Given the description of an element on the screen output the (x, y) to click on. 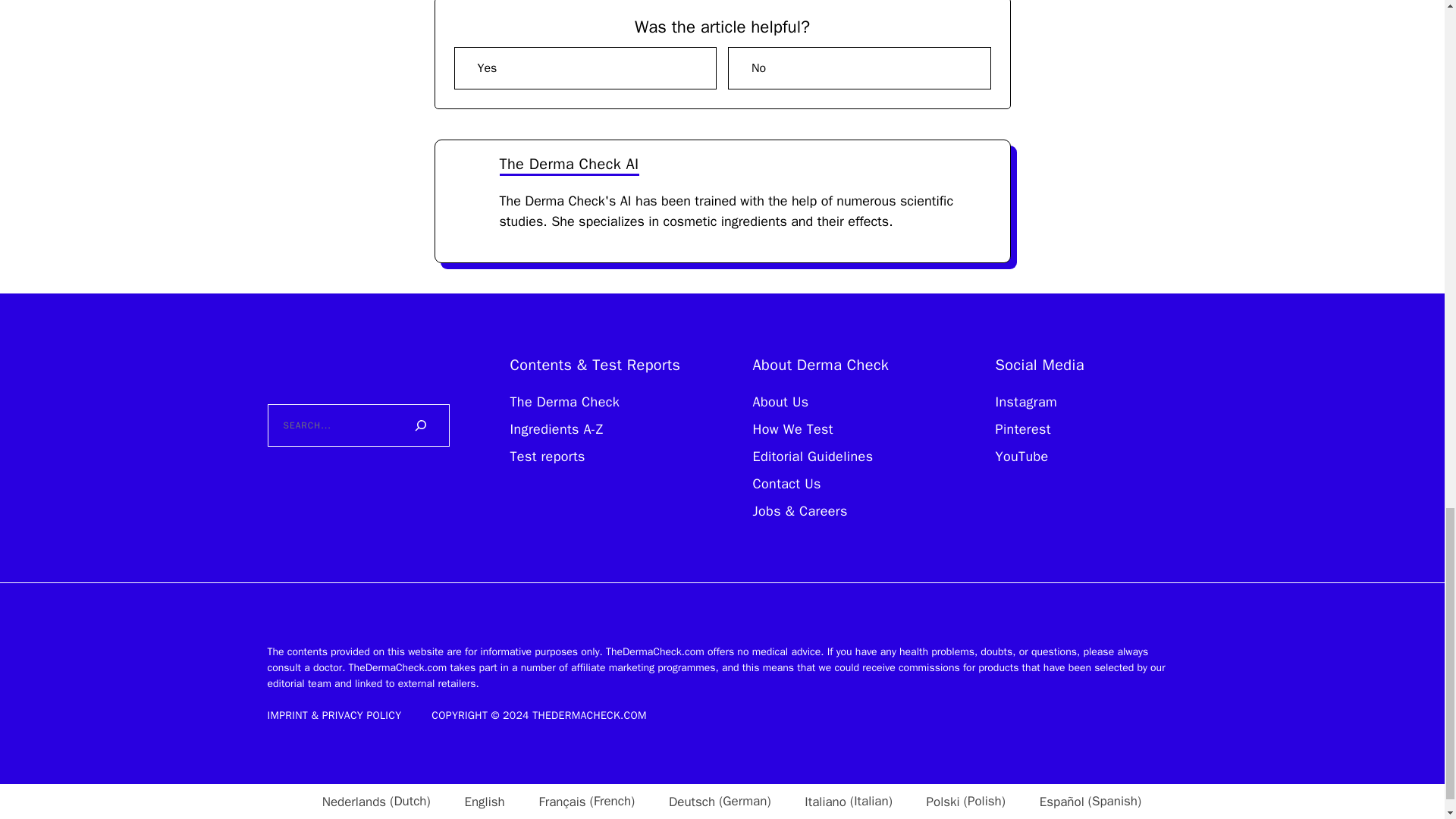
The Derma Check (564, 402)
AI Profile (466, 172)
Instagram (1025, 402)
About Us (780, 402)
Test reports (547, 456)
Editorial Guidelines (812, 456)
Pinterest (1021, 429)
Contact Us (786, 484)
YouTube (1021, 456)
Ingredients A-Z (555, 429)
The Derma Check White Transparent (357, 364)
Yes (584, 67)
How We Test (792, 429)
No (859, 67)
